Given the description of an element on the screen output the (x, y) to click on. 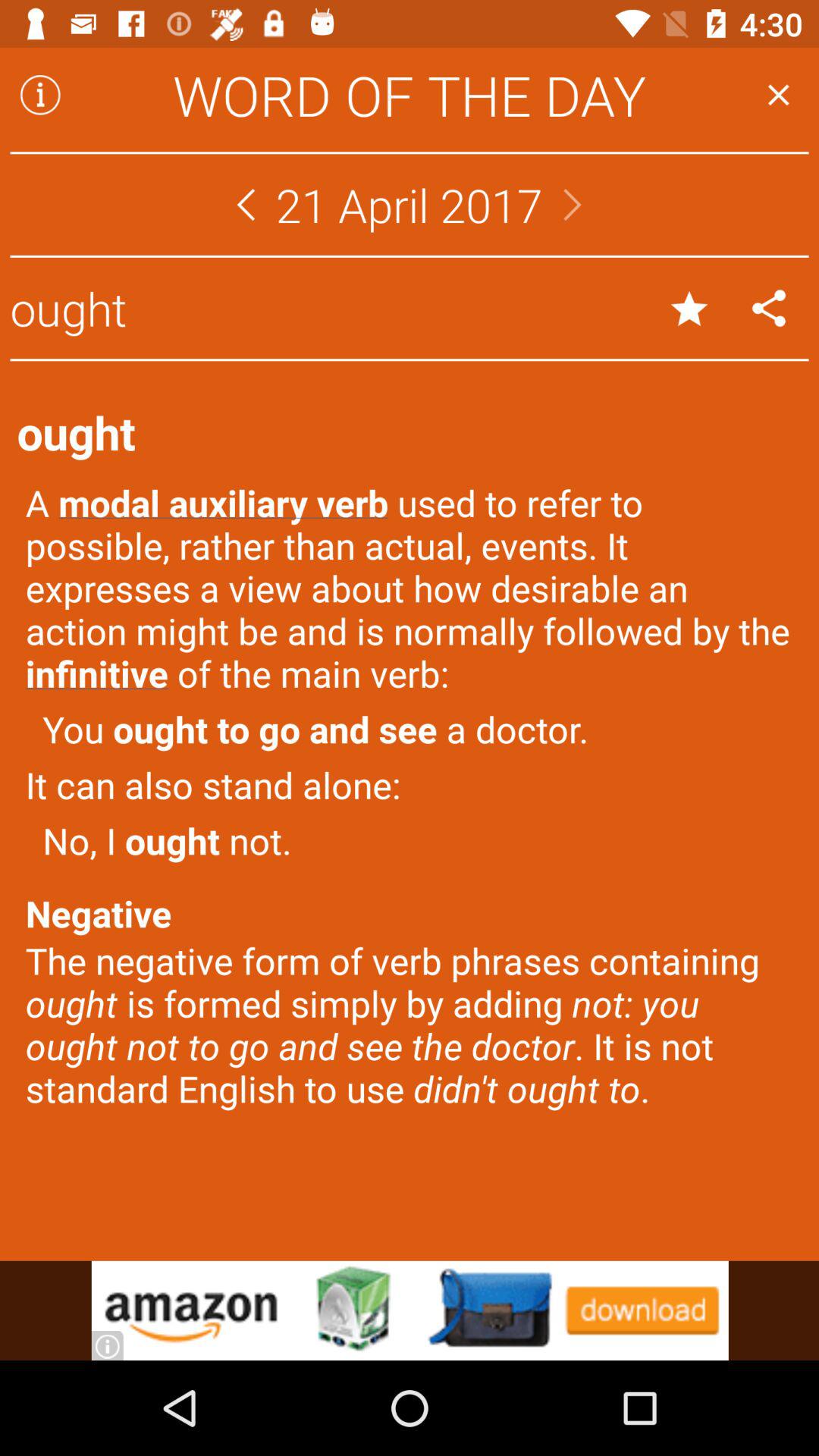
go back date (245, 204)
